Given the description of an element on the screen output the (x, y) to click on. 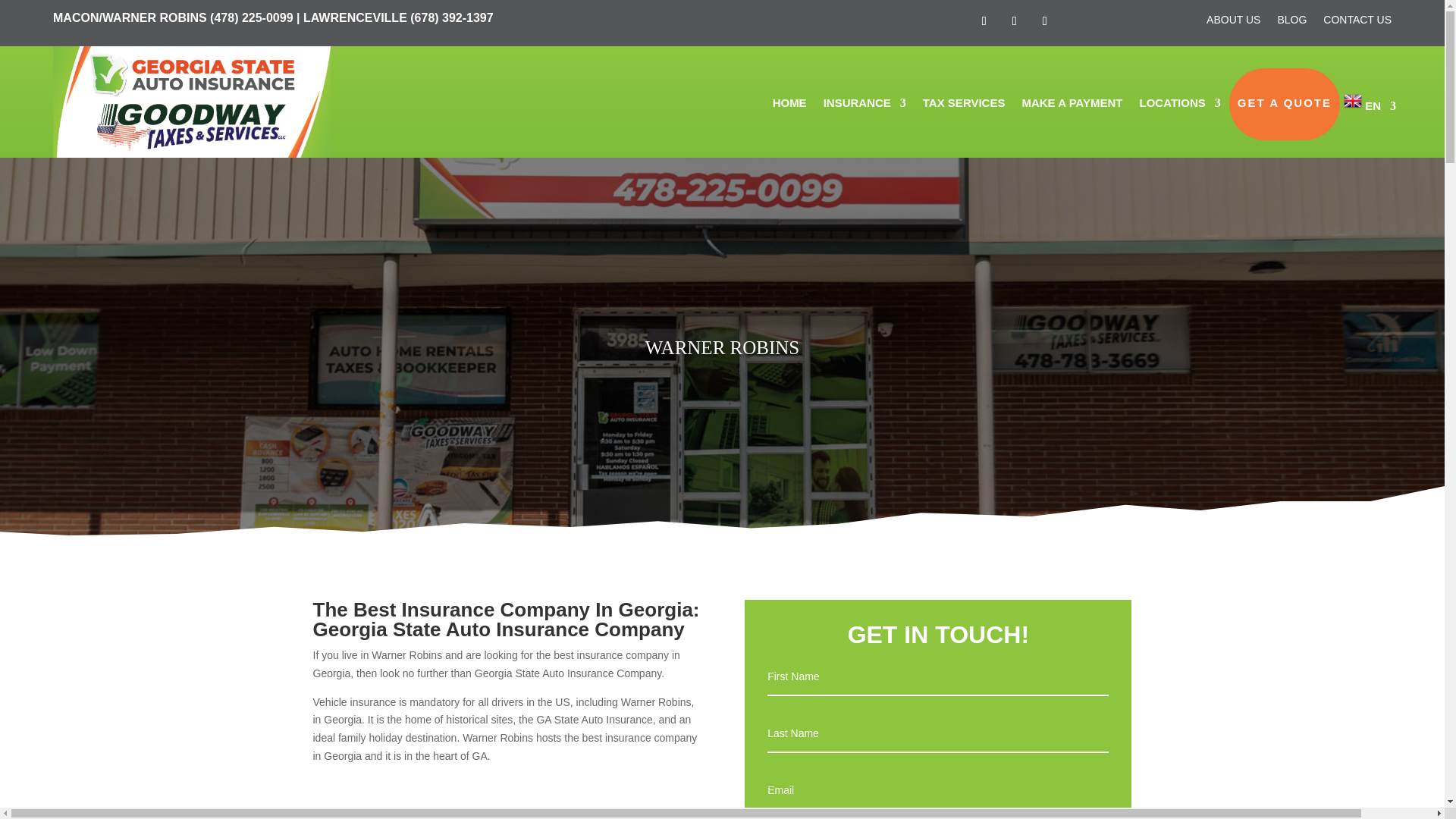
INSURANCE (864, 104)
Georgia State Auto Insurance (191, 101)
Follow on X (1014, 21)
GET A QUOTE (1284, 104)
TAX SERVICES (964, 104)
MAKE A PAYMENT (1072, 104)
Follow on Facebook (983, 21)
Follow on Instagram (1044, 21)
LOCATIONS (1180, 104)
CONTACT US (1357, 19)
ABOUT US (1233, 19)
BLOG (1291, 19)
